Given the description of an element on the screen output the (x, y) to click on. 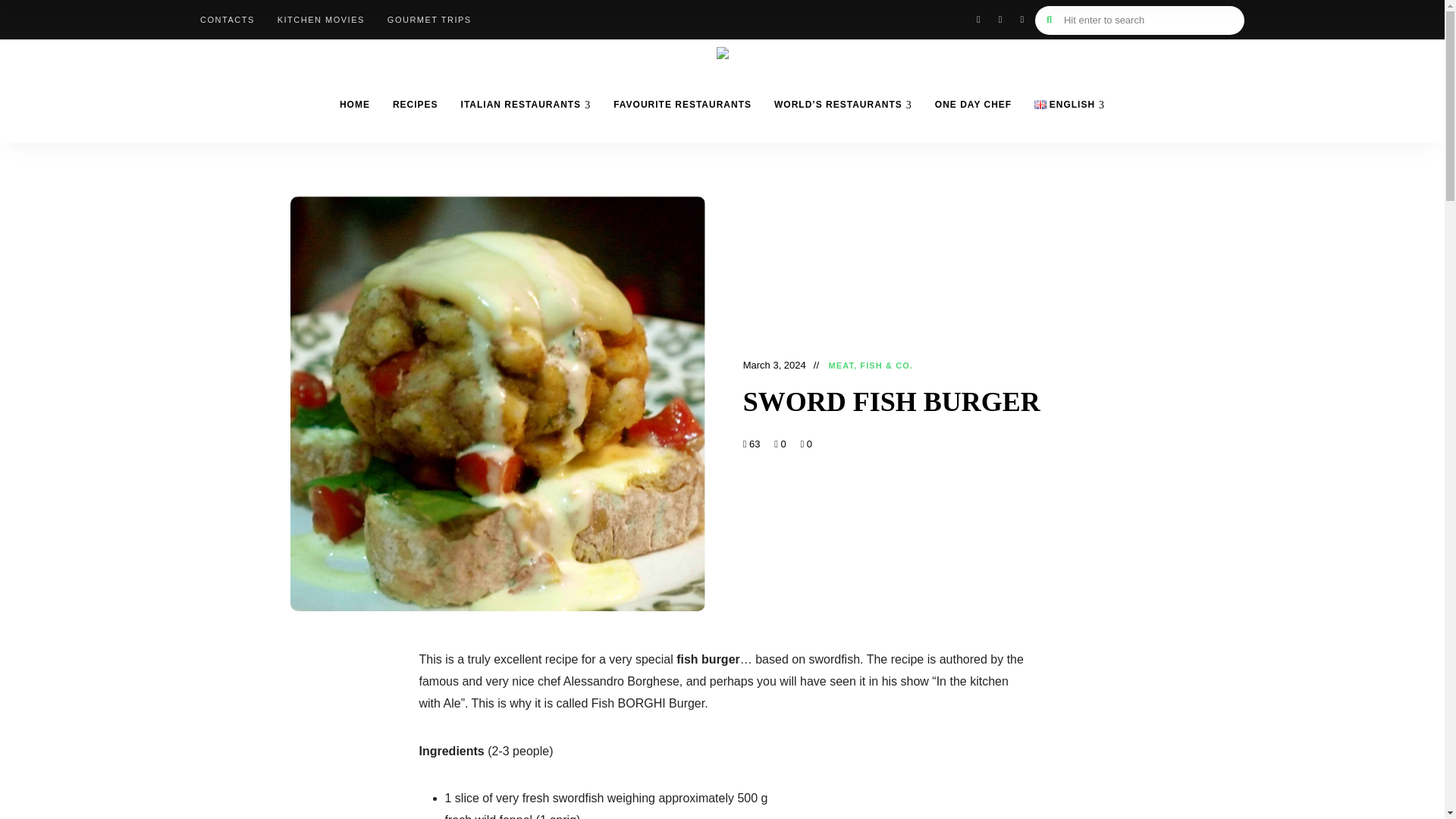
pinterest (1021, 19)
facebook (979, 19)
CONTACTS (227, 19)
ITALIAN RESTAURANTS (525, 104)
RECIPES (415, 104)
logo-bianco (722, 52)
instagram (1000, 19)
GOURMET TRIPS (429, 19)
KITCHEN MOVIES (320, 19)
